Given the description of an element on the screen output the (x, y) to click on. 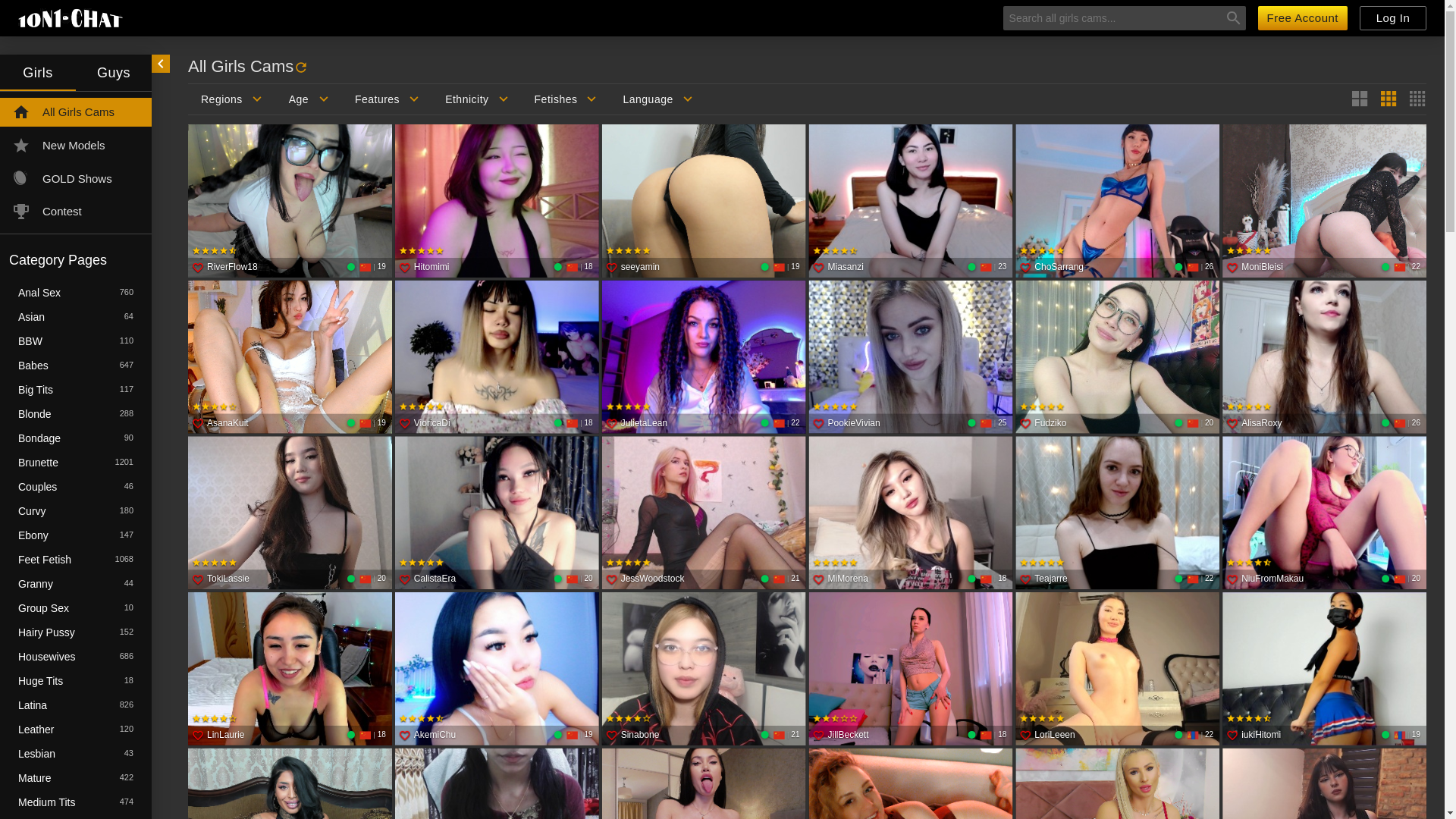
MoniBleisi
22 Element type: text (1324, 201)
Fudziko
20 Element type: text (1117, 358)
CalistaEra
20 Element type: text (497, 513)
Log In Element type: text (1392, 18)
Language Element type: text (657, 99)
Hitomimi
18 Element type: text (497, 201)
LoriLeeen
22 Element type: text (1117, 669)
seeyamin
19 Element type: text (704, 201)
Age Element type: text (308, 99)
TokiLassie
20 Element type: text (290, 513)
Girls Element type: text (37, 72)
AsanaKuit
19 Element type: text (290, 358)
VioricaDi
18 Element type: text (497, 358)
PookieVivian
25 Element type: text (910, 358)
Fetishes Element type: text (565, 99)
AlisaRoxy
26 Element type: text (1324, 358)
Guys Element type: text (113, 72)
Ethnicity Element type: text (476, 99)
Miasanzi
23 Element type: text (910, 201)
Sinabone
21 Element type: text (704, 669)
JessWoodstock
21 Element type: text (704, 513)
Teajarre
22 Element type: text (1117, 513)
AkemiChu
19 Element type: text (497, 669)
Features Element type: text (387, 99)
iukiHitomi
19 Element type: text (1324, 669)
Regions Element type: text (231, 99)
JillBeckett
18 Element type: text (910, 669)
NiuFromMakau
20 Element type: text (1324, 513)
LinLaurie
18 Element type: text (290, 669)
MiMorena
18 Element type: text (910, 513)
Free Account Element type: text (1302, 18)
JulietaLean
22 Element type: text (704, 358)
ChoSarrang
26 Element type: text (1117, 201)
RiverFlow18
19 Element type: text (290, 201)
